Given the description of an element on the screen output the (x, y) to click on. 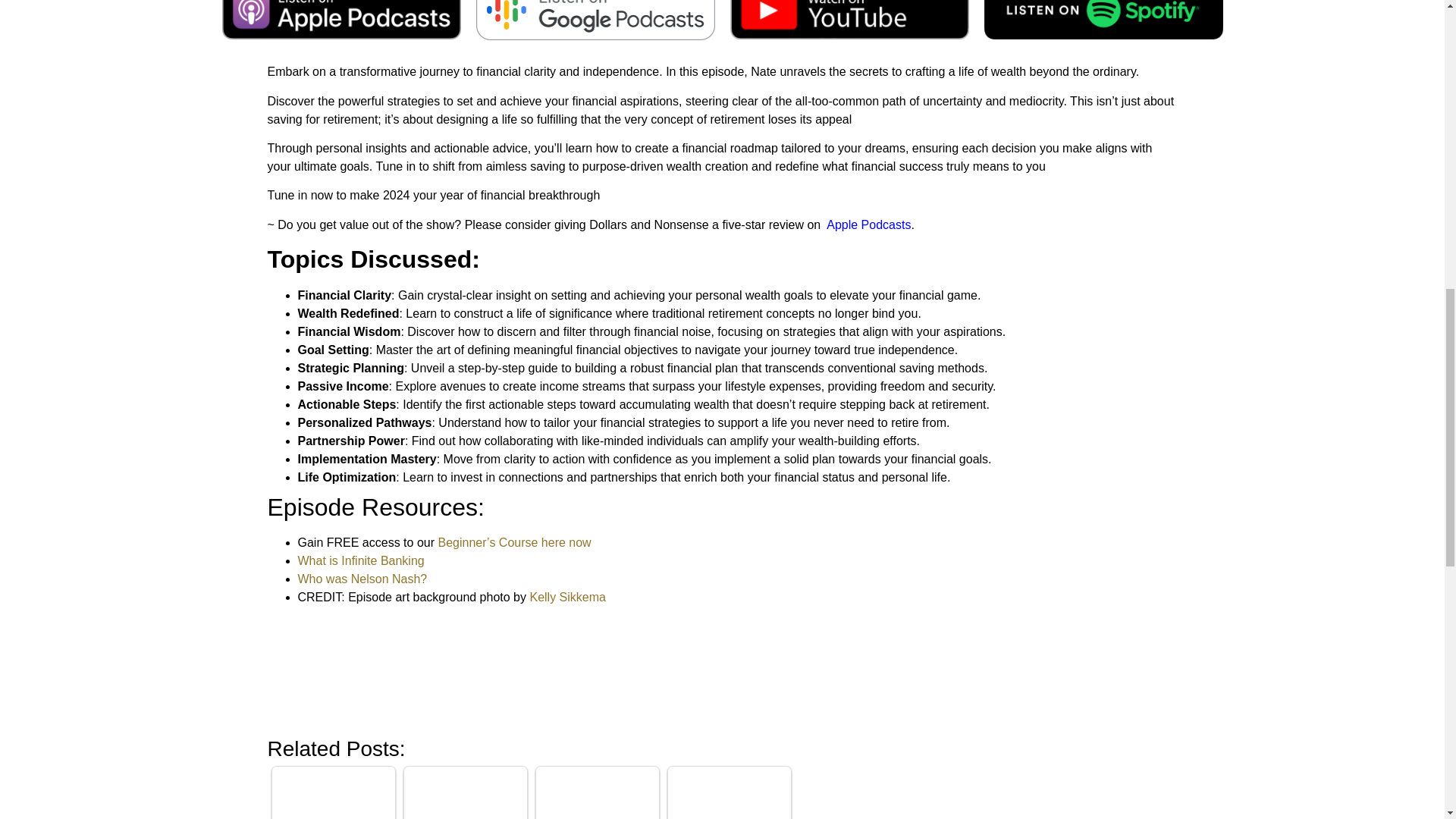
Who was Nelson Nash? (361, 578)
What is Infinite Banking (360, 560)
Kelly Sikkema (567, 596)
